Given the description of an element on the screen output the (x, y) to click on. 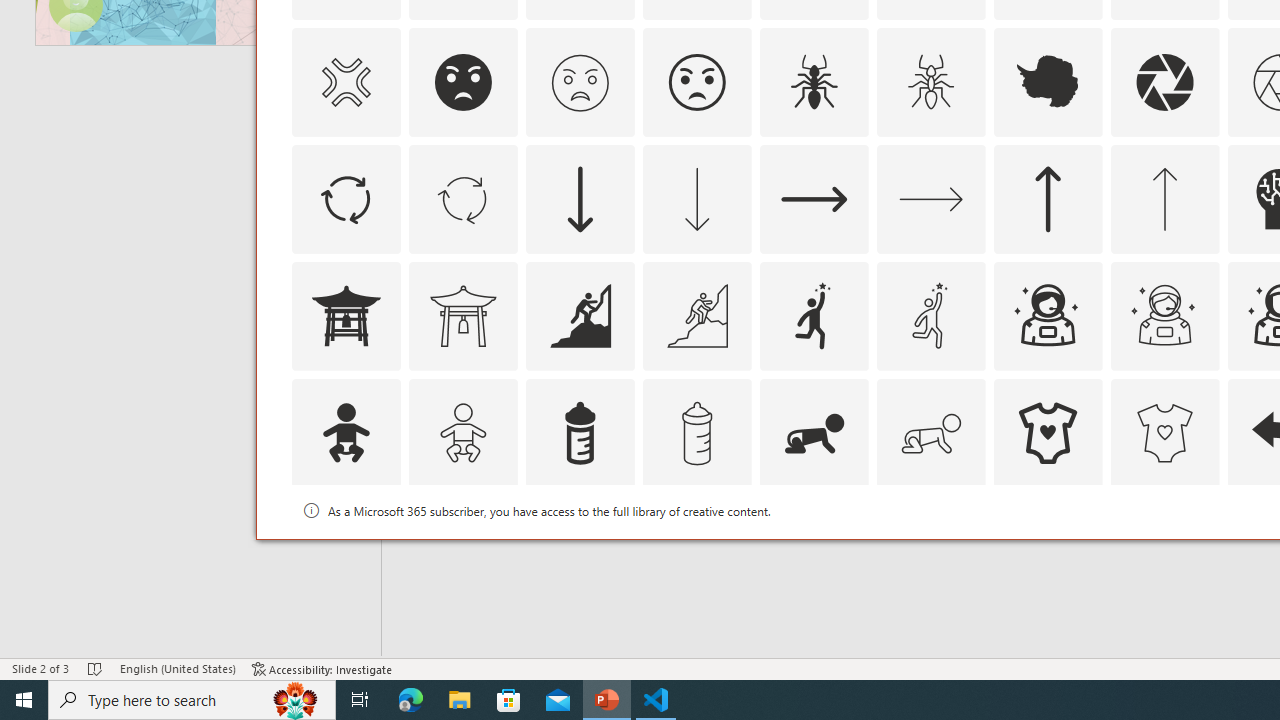
AutomationID: Icons_Aperture (1164, 82)
